Given the description of an element on the screen output the (x, y) to click on. 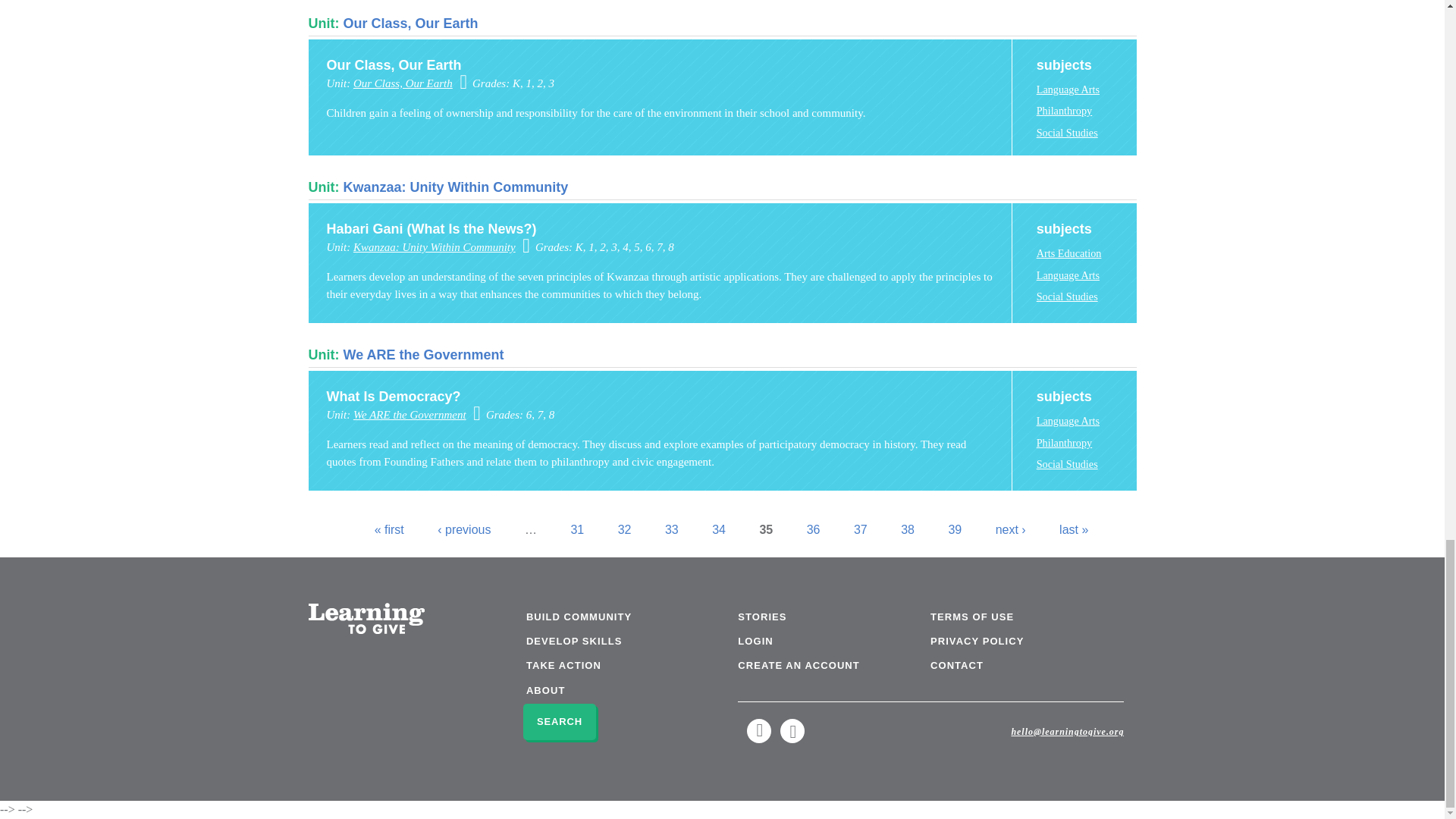
Go to page 31 (576, 529)
Go to page 33 (671, 529)
Go to page 32 (624, 529)
Go to page 34 (718, 529)
Go to first page (389, 529)
Go to previous page (464, 529)
